Given the description of an element on the screen output the (x, y) to click on. 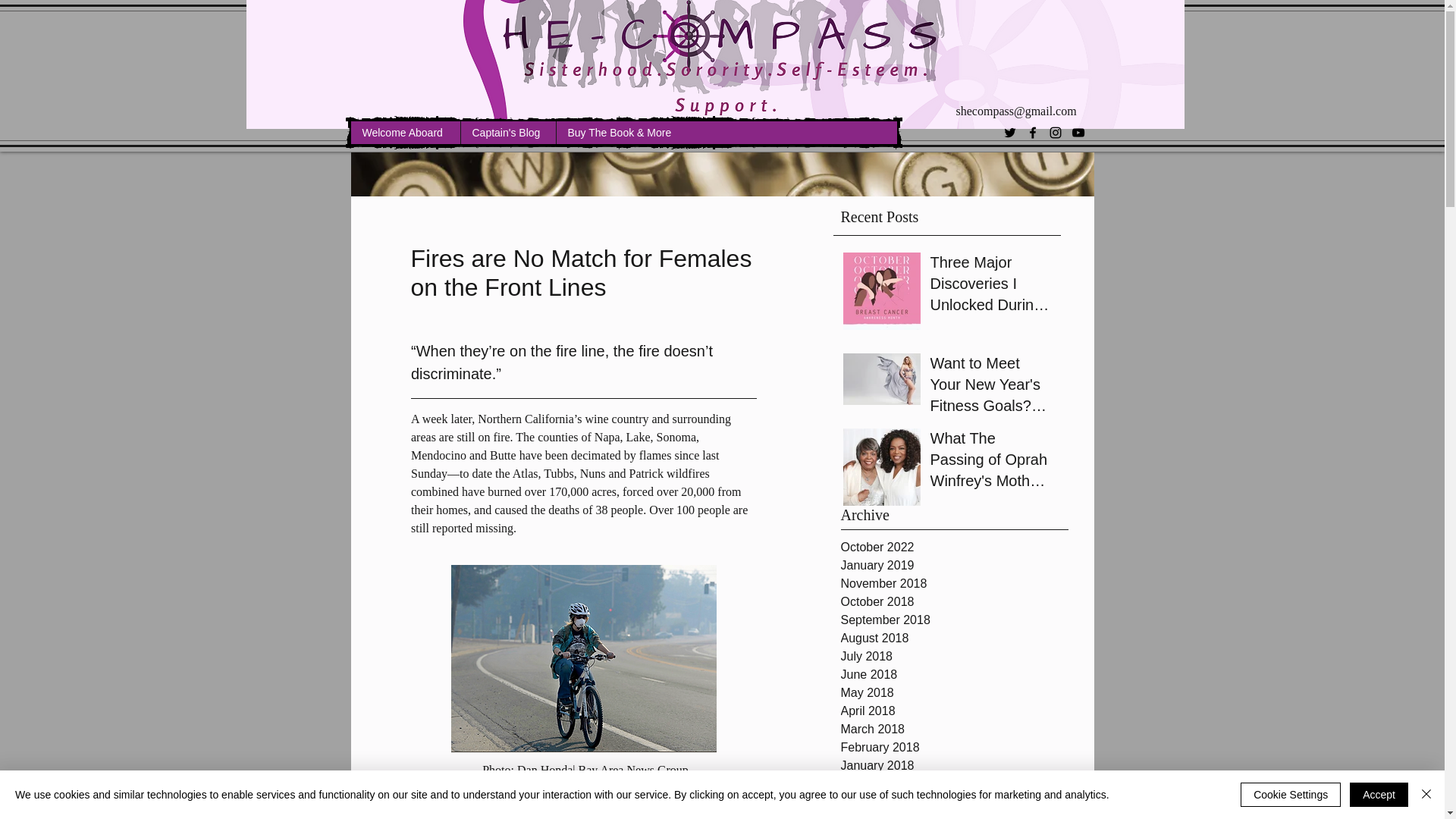
November 2017 (953, 802)
May 2018 (953, 692)
October 2017 (953, 815)
January 2019 (953, 565)
August 2018 (953, 638)
Captain's Blog (507, 132)
December 2017 (953, 783)
October 2022 (953, 547)
February 2018 (953, 747)
